Given the description of an element on the screen output the (x, y) to click on. 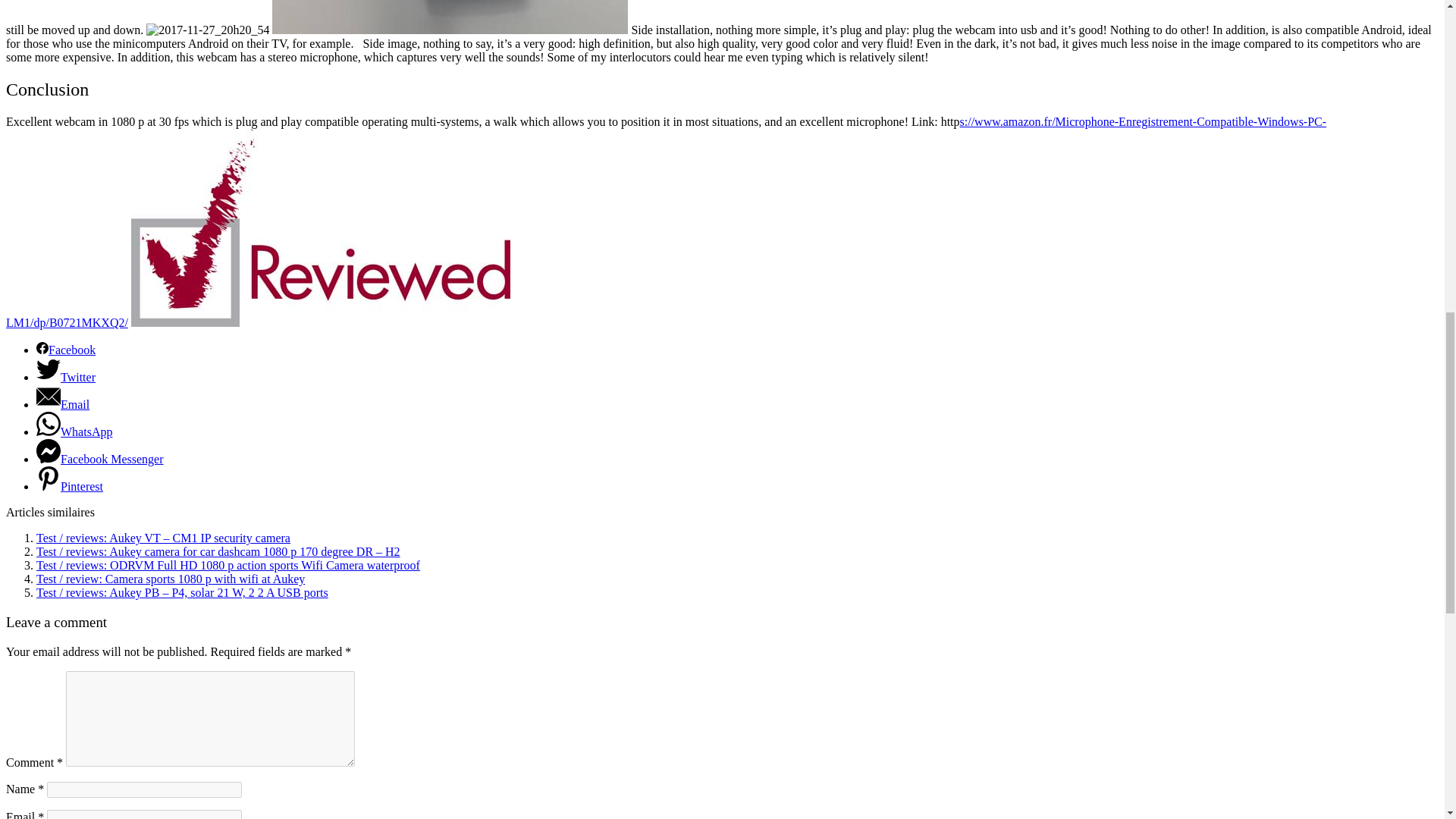
Pinterest (69, 486)
Share on WhatsApp (74, 431)
WhatsApp (74, 431)
Email (62, 404)
Share on Twitter (66, 377)
Facebook Messenger (99, 459)
Share on Facebook Messenger (99, 459)
Twitter (66, 377)
Facebook (66, 349)
Share on Email (62, 404)
Share on Facebook (66, 349)
